Given the description of an element on the screen output the (x, y) to click on. 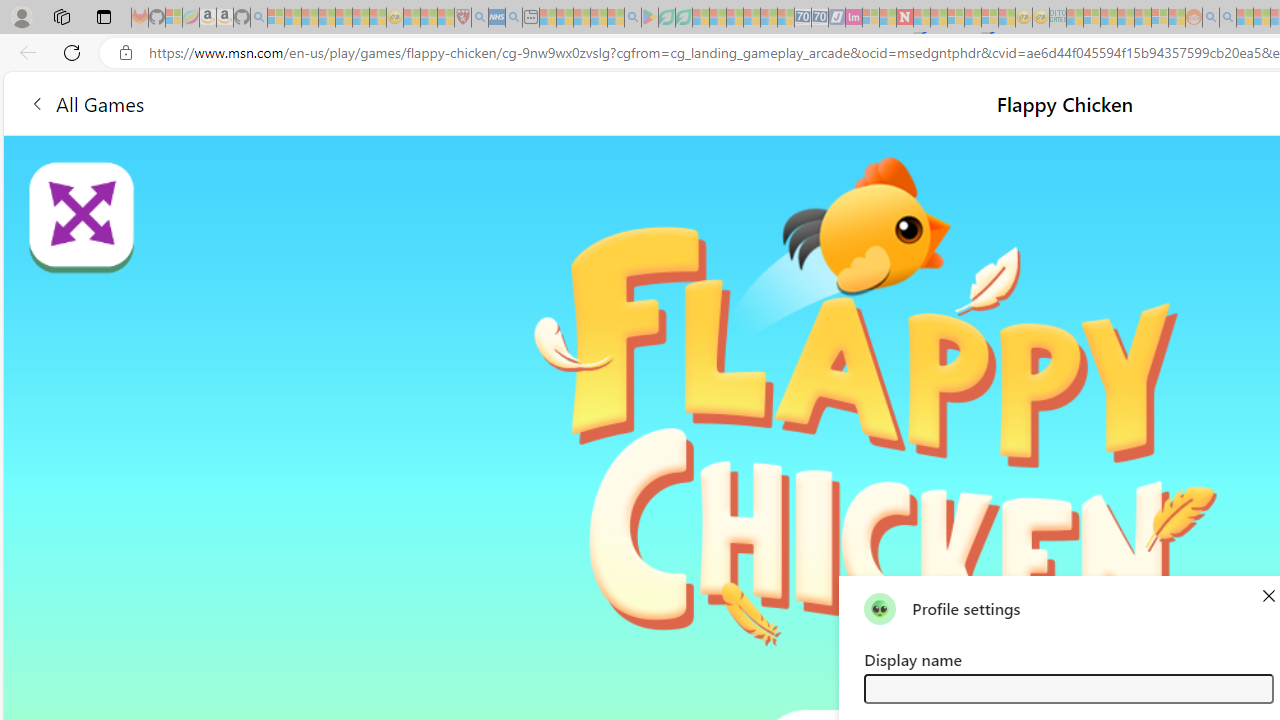
Expert Portfolios - Sleeping (1125, 17)
google - Search - Sleeping (632, 17)
